Given the description of an element on the screen output the (x, y) to click on. 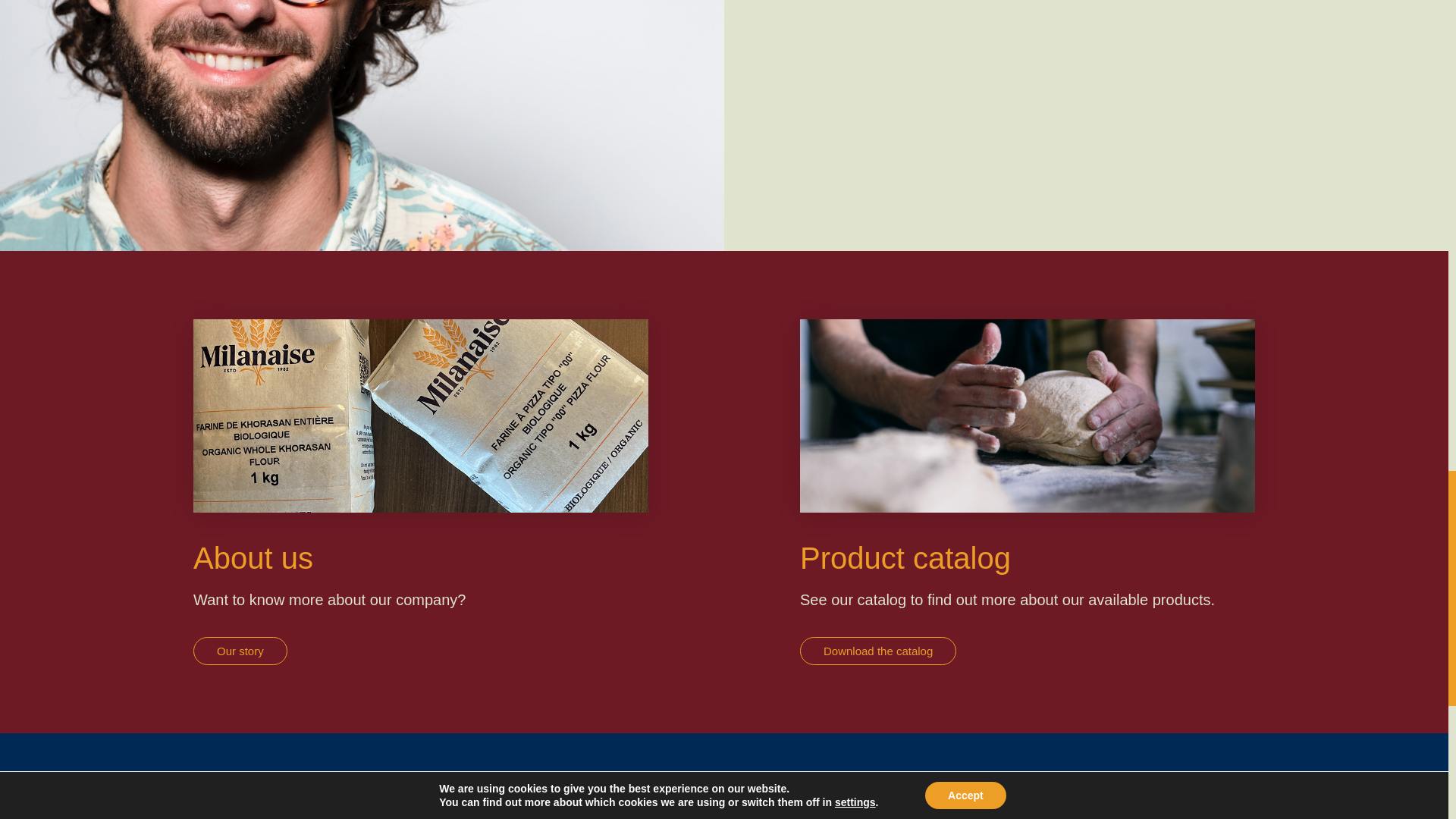
Our story (239, 651)
Download the catalog (877, 651)
